Given the description of an element on the screen output the (x, y) to click on. 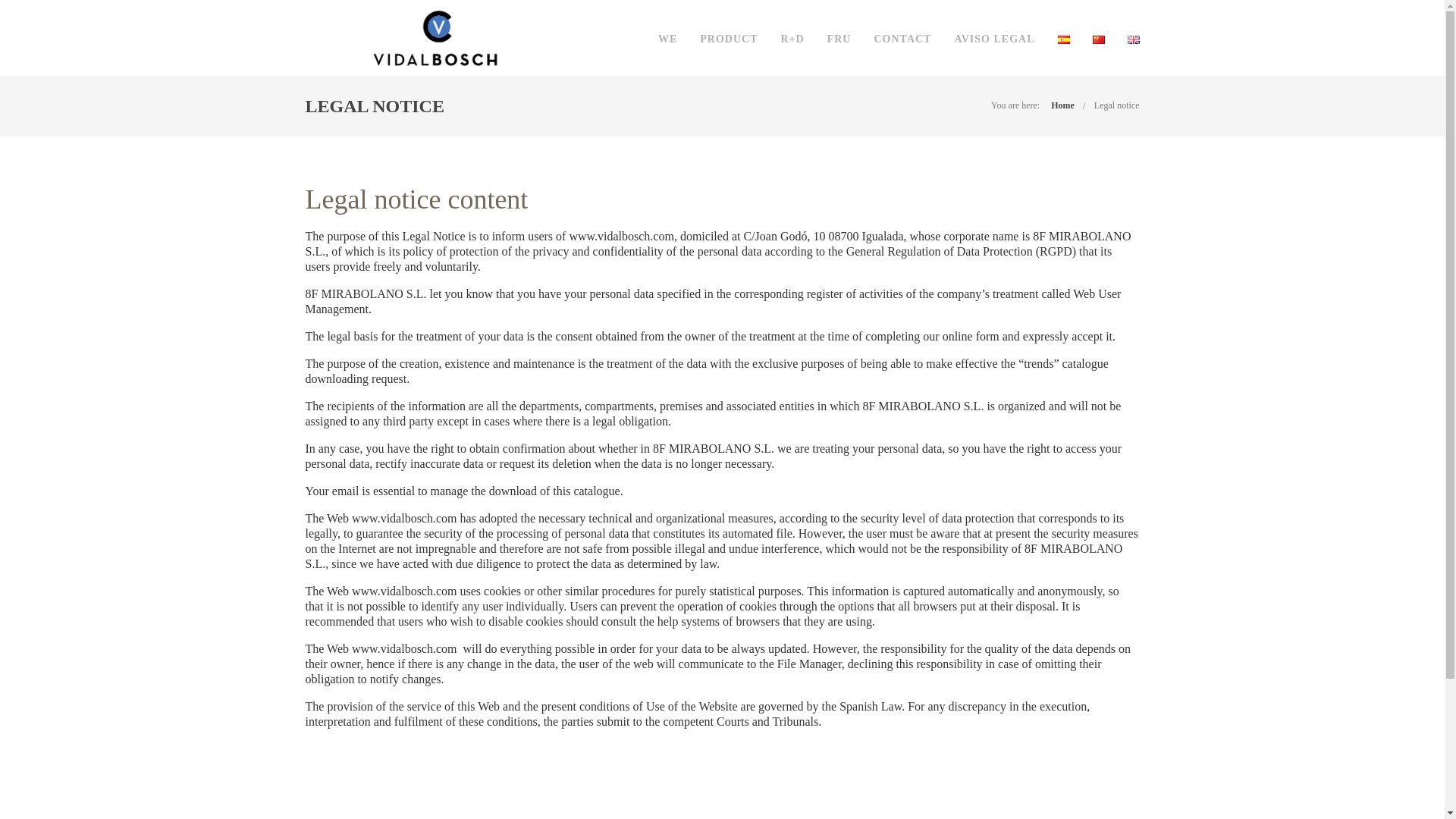
CONTACT (902, 38)
FRU (839, 38)
Legal notice (1117, 104)
PRODUCT (728, 38)
AVISO LEGAL (993, 38)
Home (1062, 104)
WE (667, 38)
